Given the description of an element on the screen output the (x, y) to click on. 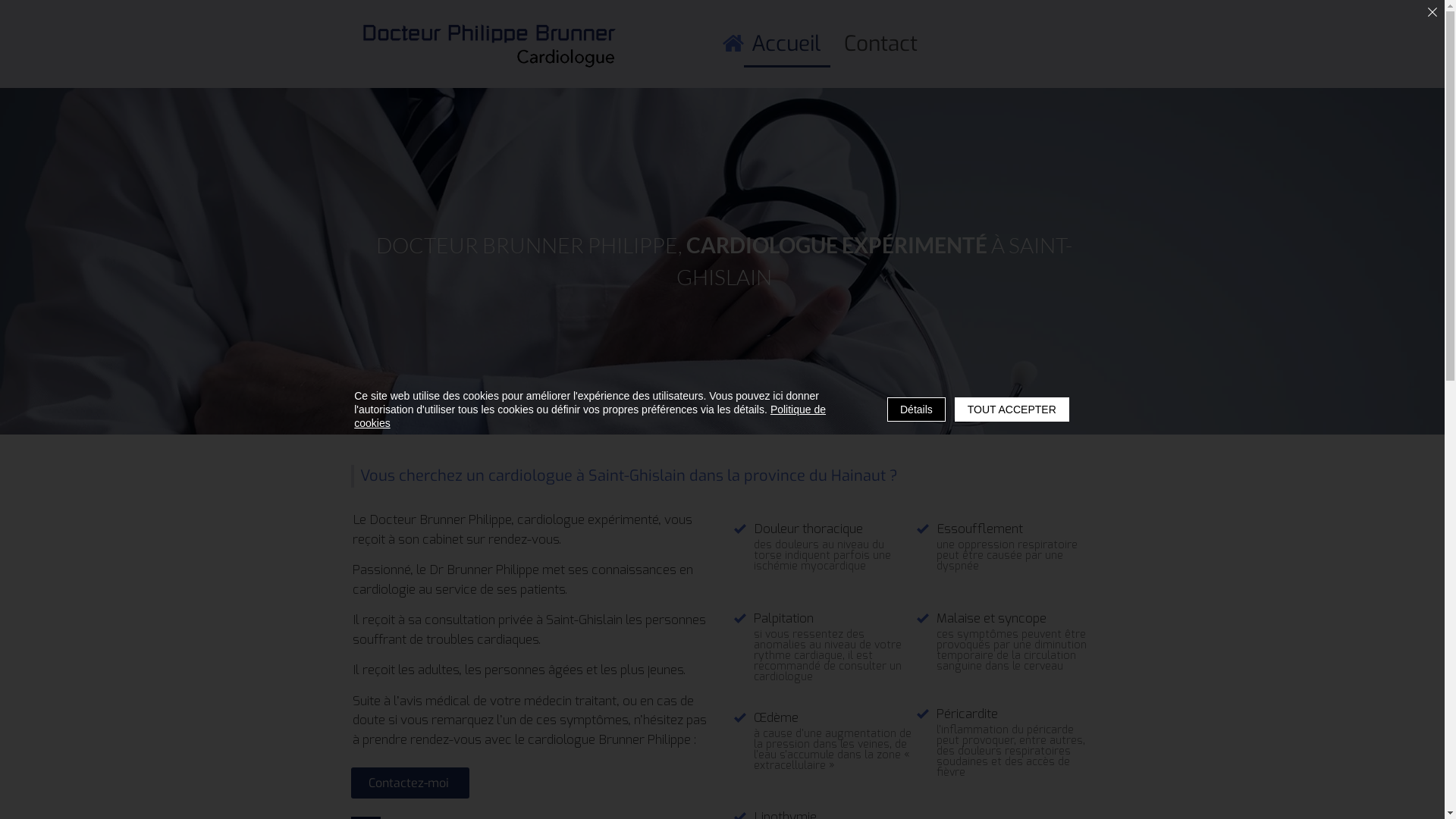
Accueil Element type: text (786, 44)
Contact Element type: text (880, 44)
Contactez-moi Element type: text (409, 782)
TOUT ACCEPTER Element type: text (1011, 409)
Politique de cookies Element type: text (589, 416)
